Given the description of an element on the screen output the (x, y) to click on. 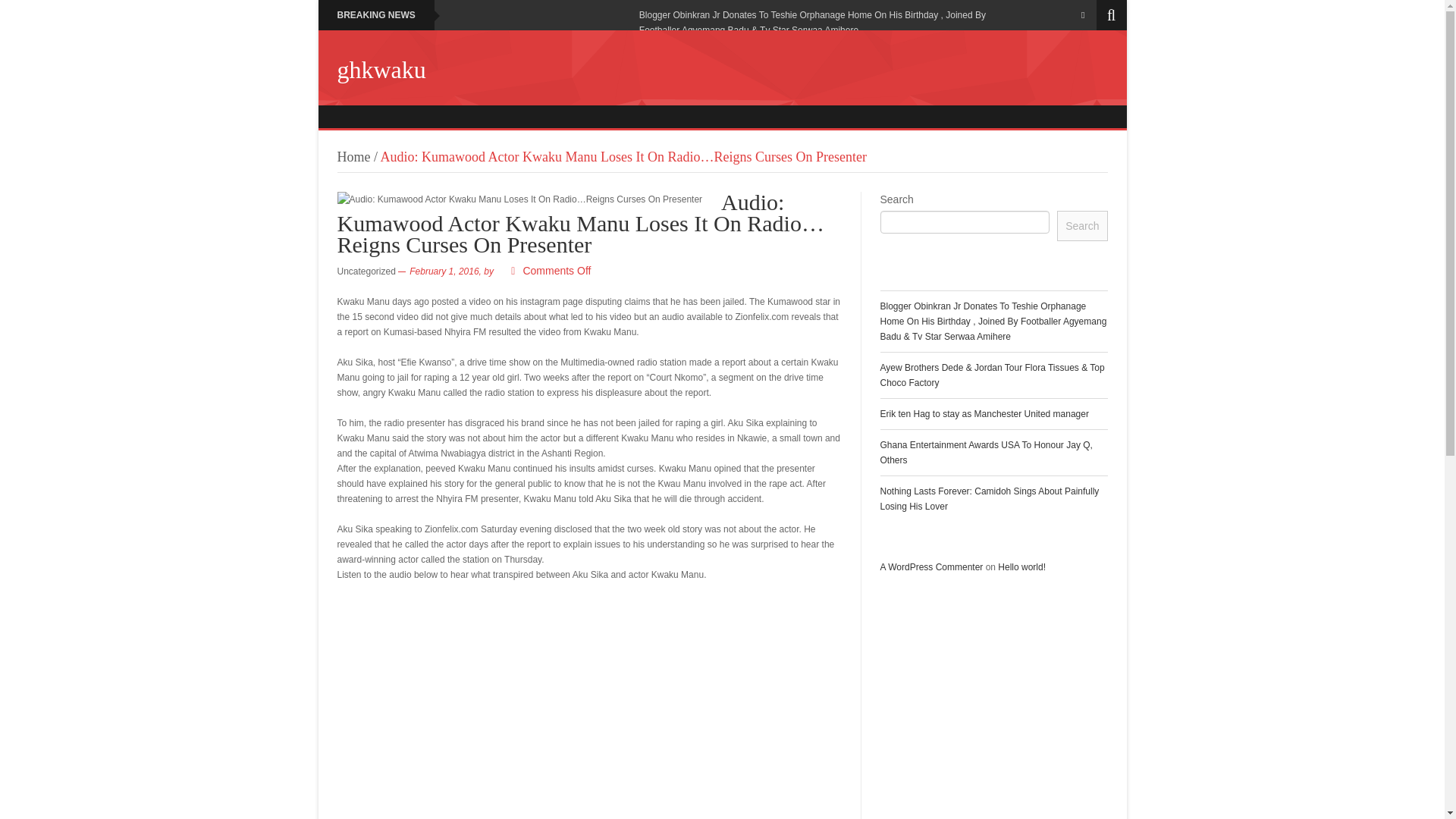
Ghana Entertainment Awards USA To Honour Jay Q, Others (985, 452)
ghkwaku (380, 69)
A WordPress Commenter (930, 566)
Search (1081, 225)
Home (352, 156)
Hello world! (1021, 566)
Erik ten Hag to stay as Manchester United manager (983, 413)
